Given the description of an element on the screen output the (x, y) to click on. 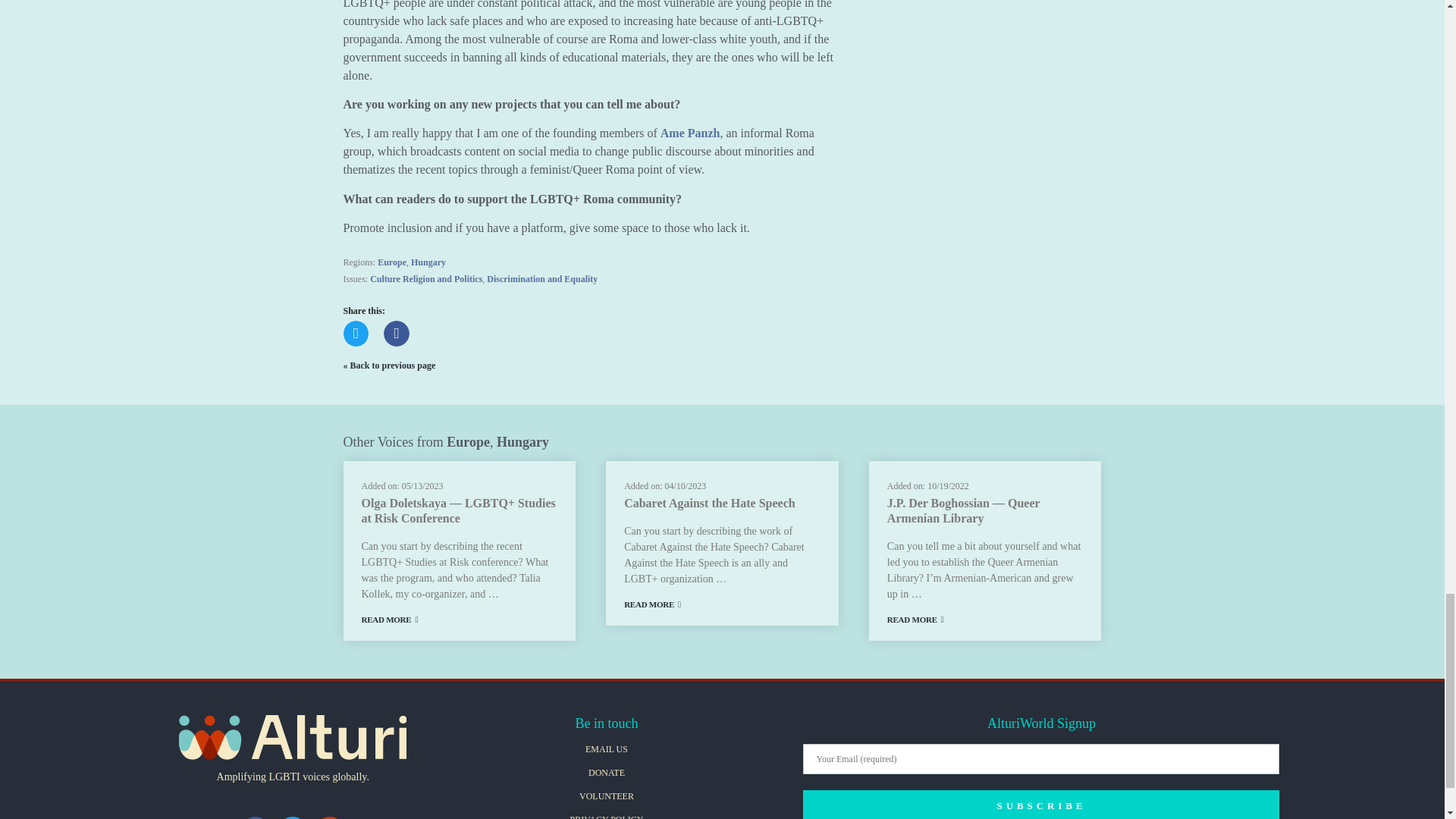
Europe (391, 262)
Culture Religion and Politics (425, 278)
Discrimination and Equality (541, 278)
Hungary (427, 262)
Ame Panzh (690, 132)
